Given the description of an element on the screen output the (x, y) to click on. 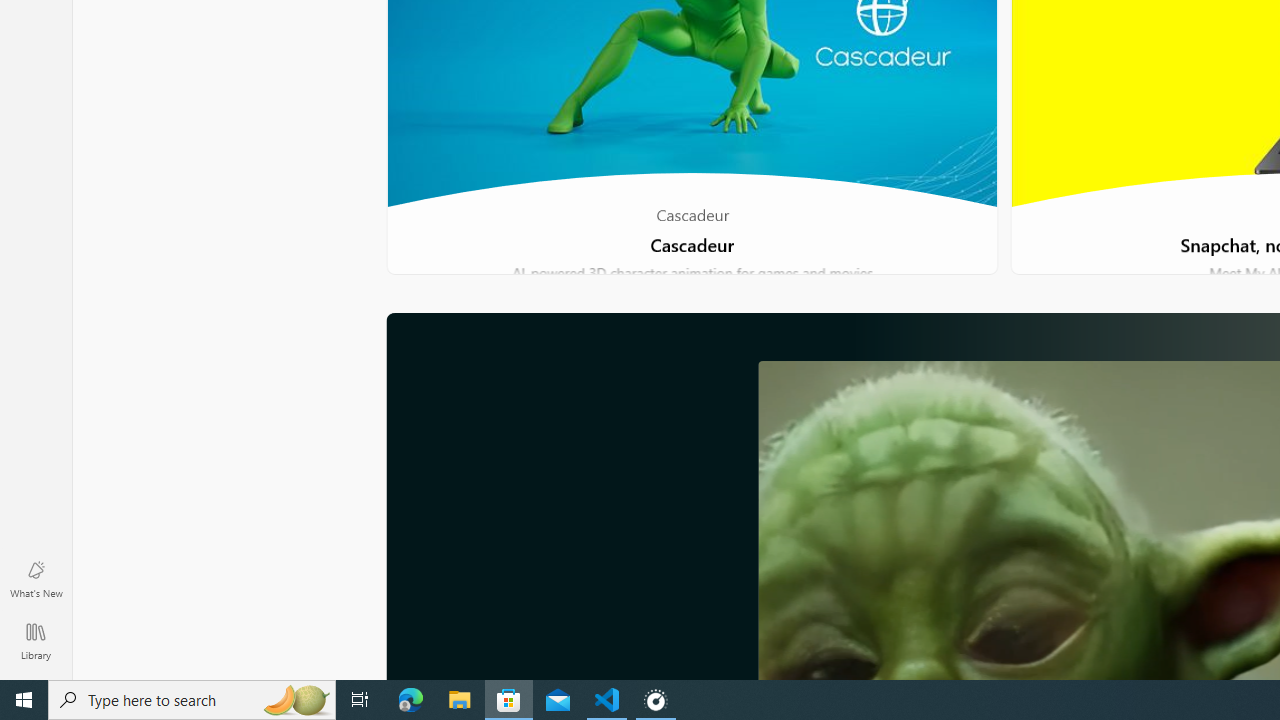
What's New (35, 578)
Library (35, 640)
